Given the description of an element on the screen output the (x, y) to click on. 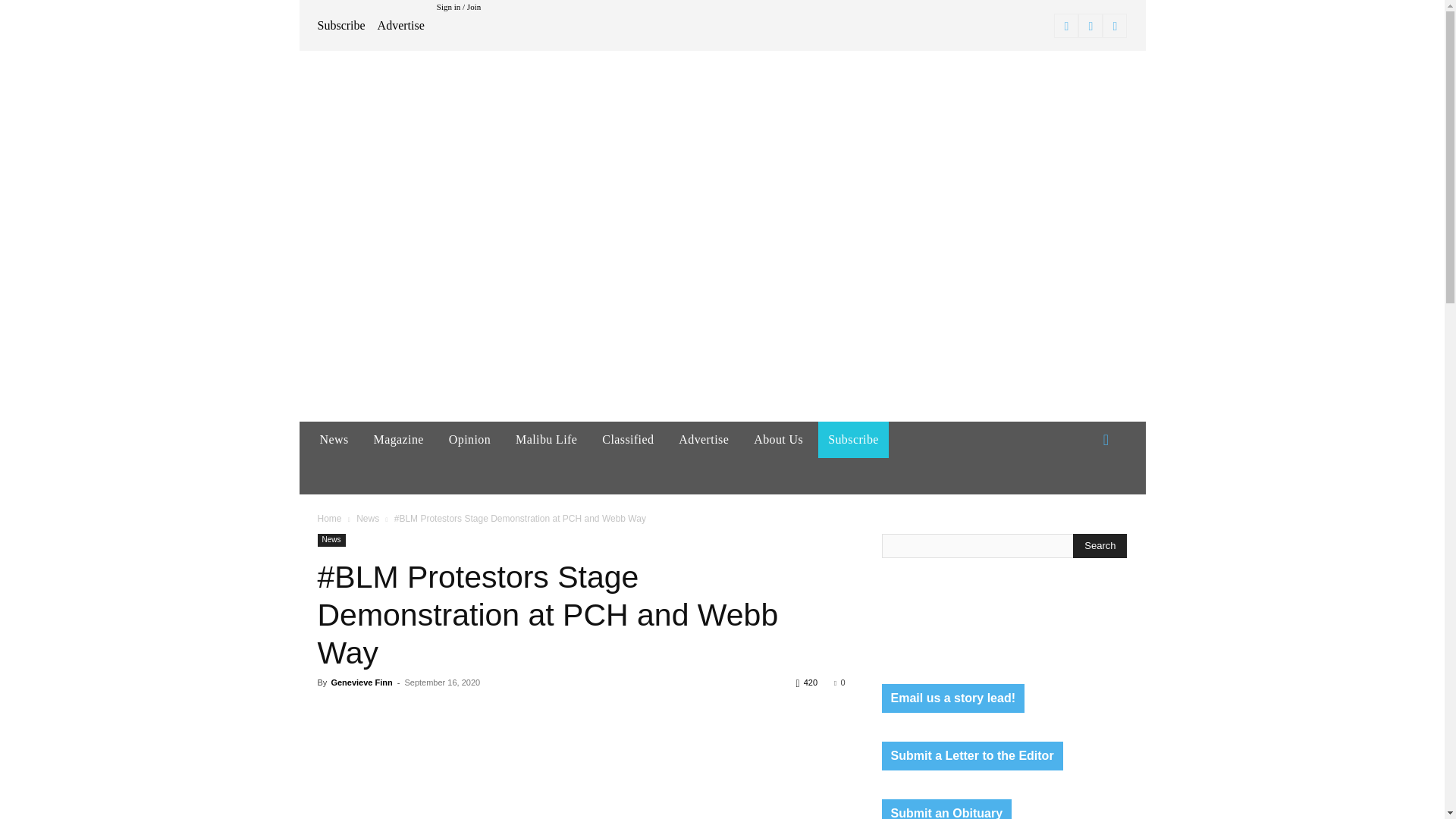
Twitter (1114, 25)
Instagram (1090, 25)
Facebook (1066, 25)
View all posts in News (367, 518)
Search (1099, 545)
